Given the description of an element on the screen output the (x, y) to click on. 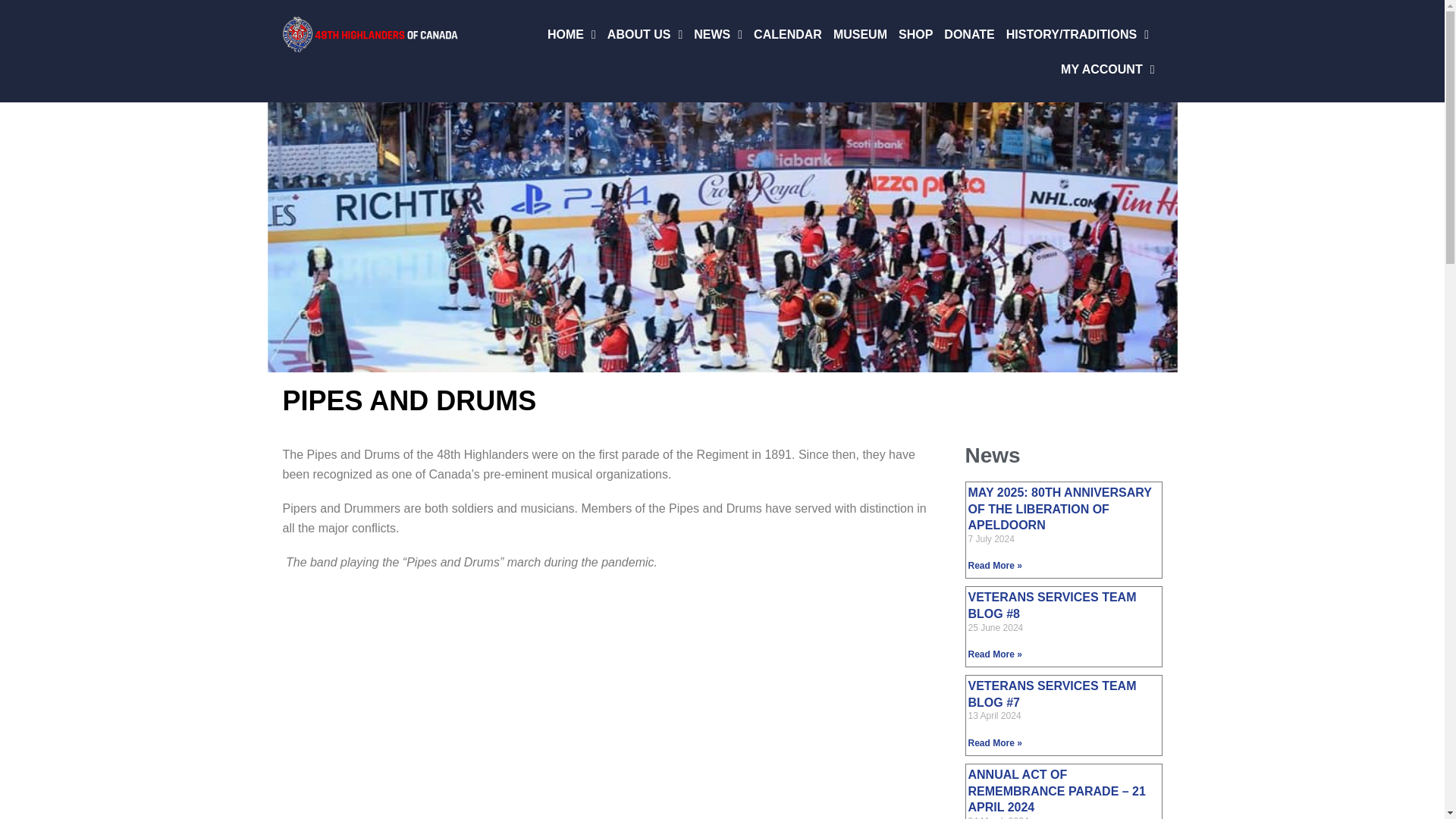
HOME (571, 34)
ABOUT US (644, 34)
NEWS (718, 34)
DONATE (968, 34)
CALENDAR (788, 34)
SHOP (915, 34)
MY ACCOUNT (1107, 69)
MUSEUM (859, 34)
